Given the description of an element on the screen output the (x, y) to click on. 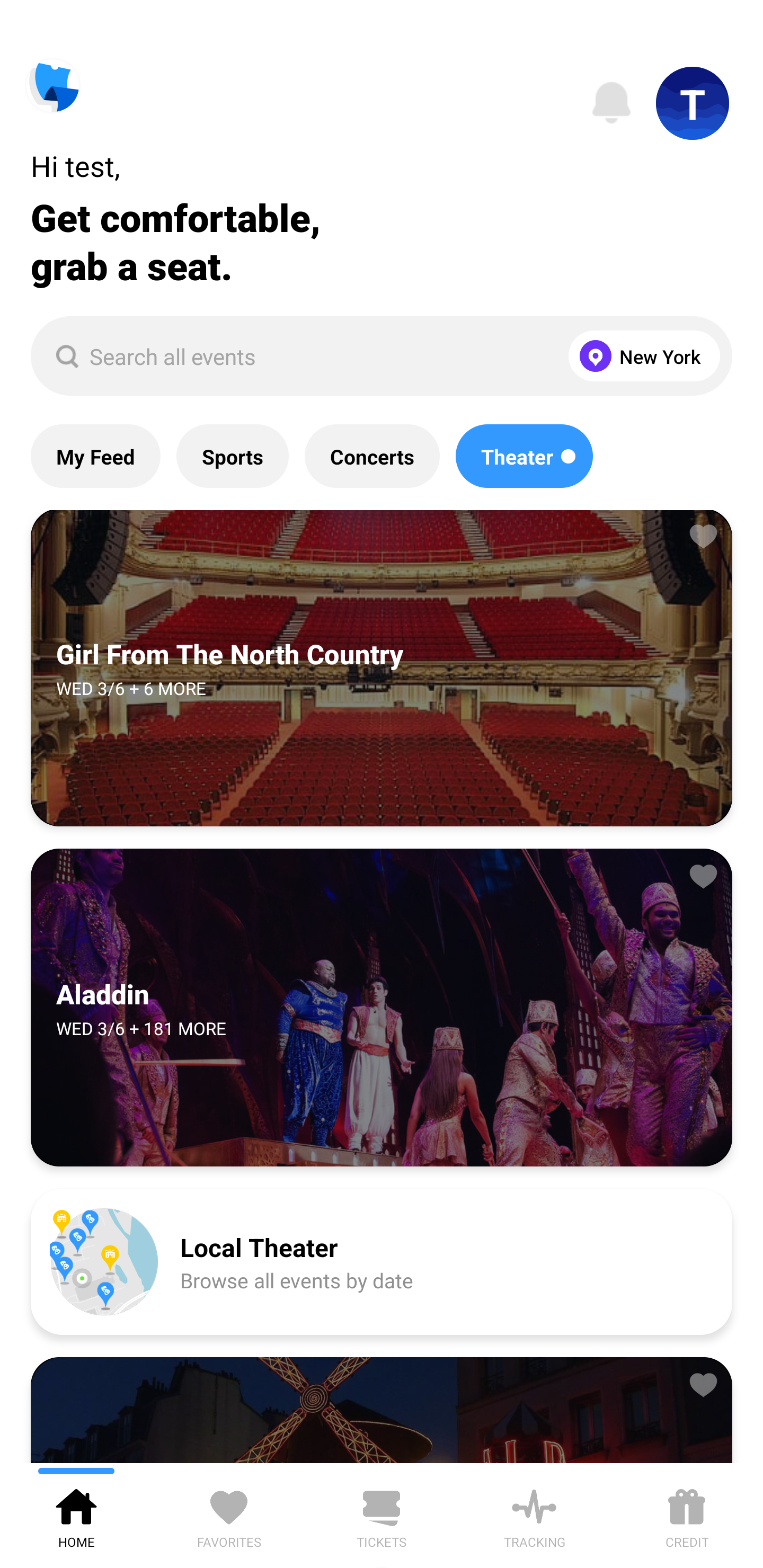
T (692, 103)
New York (640, 355)
My Feed (95, 455)
Sports (232, 455)
Concerts (371, 455)
Theater (523, 455)
HOME (76, 1515)
FAVORITES (228, 1515)
TICKETS (381, 1515)
TRACKING (533, 1515)
CREDIT (686, 1515)
